Given the description of an element on the screen output the (x, y) to click on. 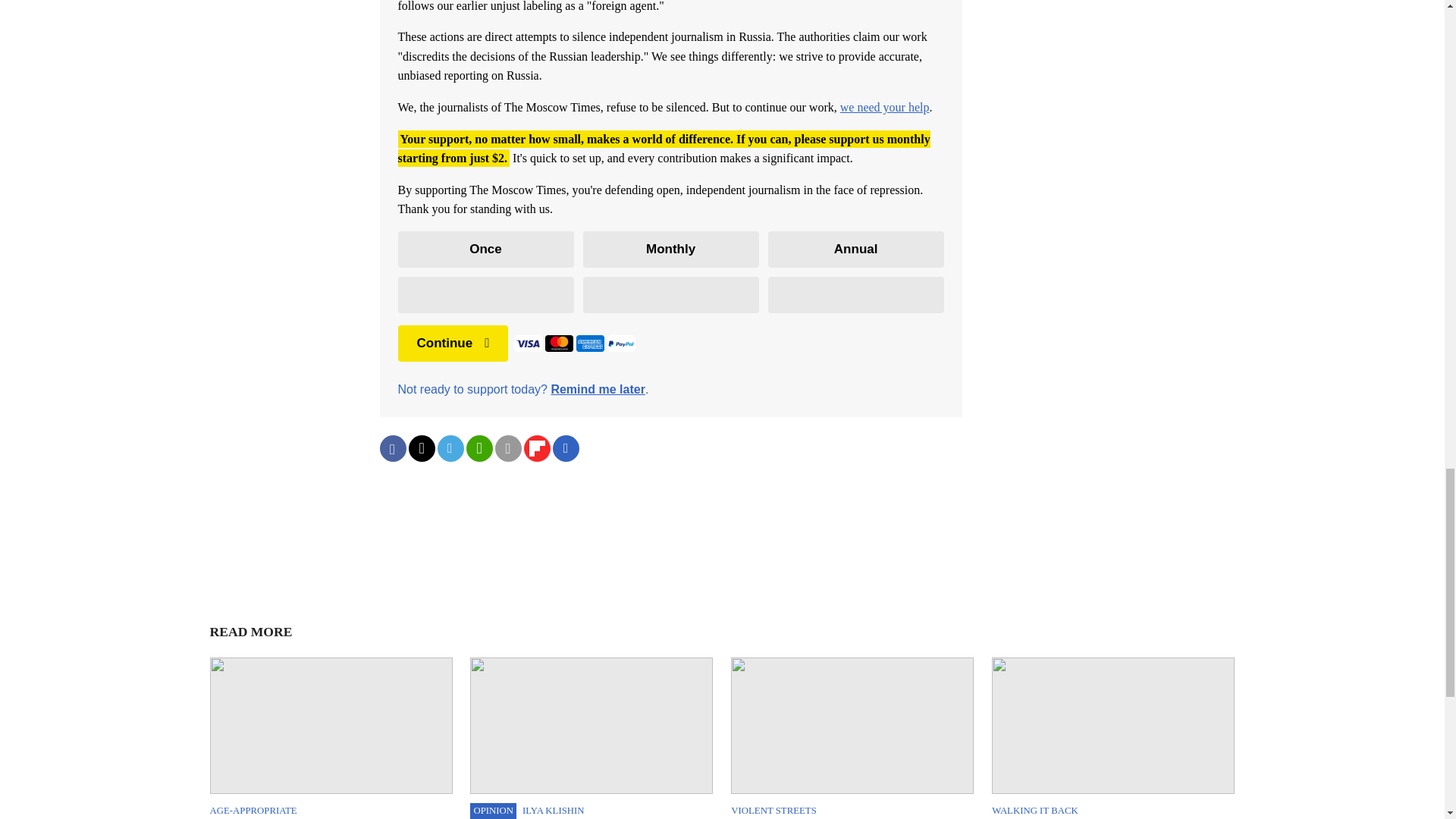
we need your help (885, 106)
Share on Telegram (449, 447)
Share on Flipboard (536, 447)
Share on Facebook (392, 447)
Share on Twitter (420, 447)
